Given the description of an element on the screen output the (x, y) to click on. 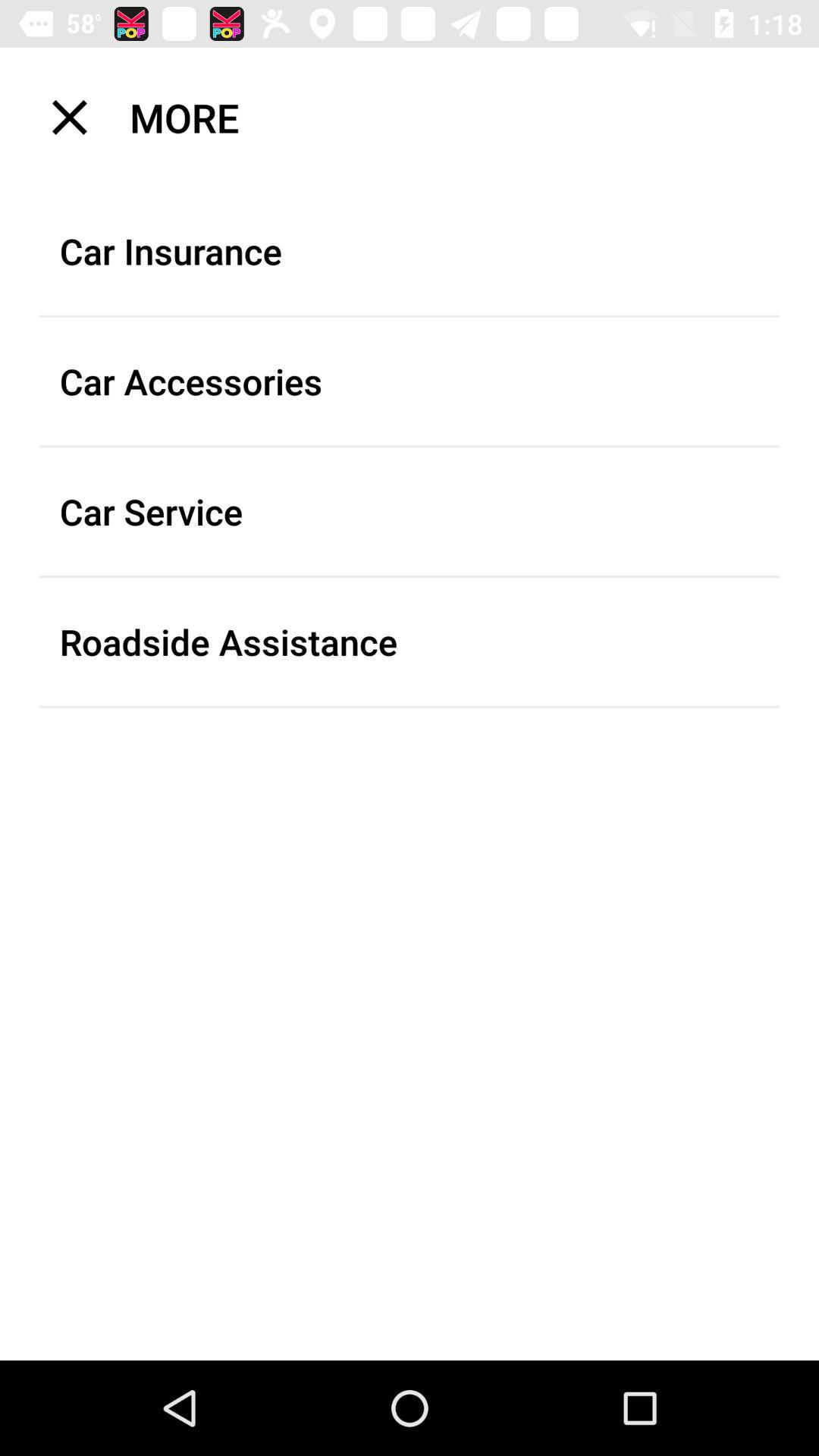
select car service item (409, 511)
